Given the description of an element on the screen output the (x, y) to click on. 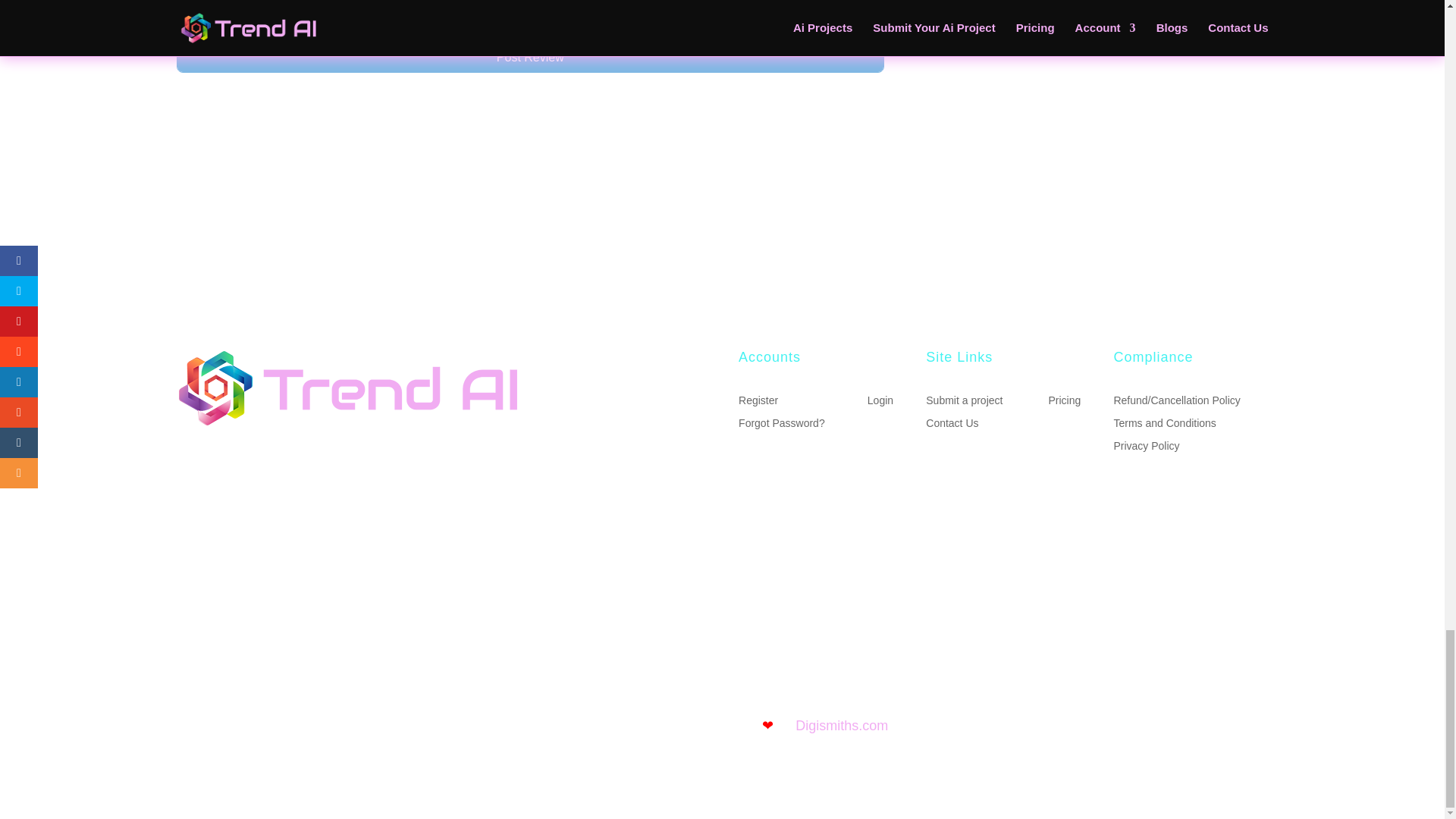
Post Review (529, 56)
yes (182, 12)
Post Review (529, 56)
